Given the description of an element on the screen output the (x, y) to click on. 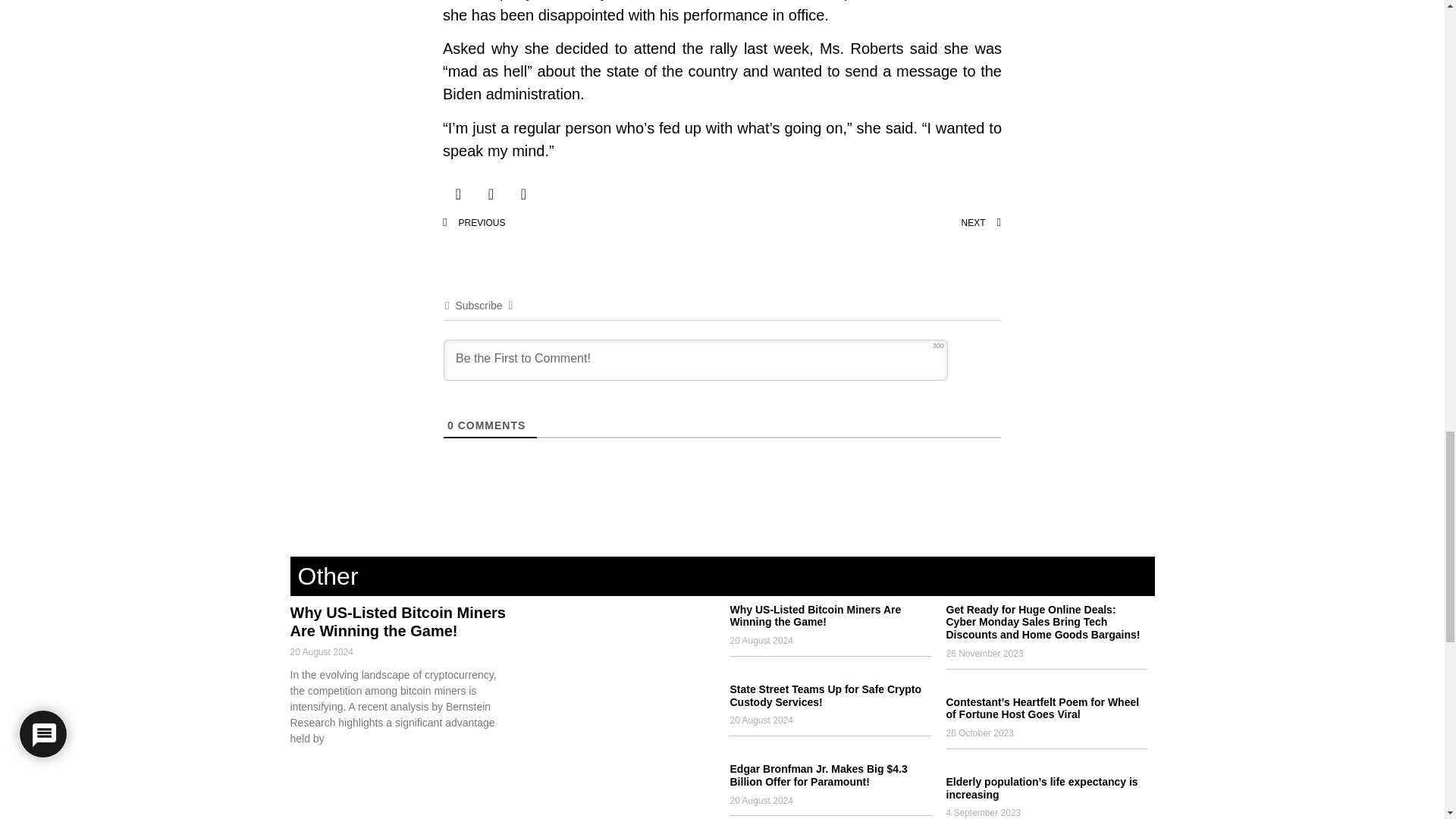
Why US-Listed Bitcoin Miners Are Winning the Game! (397, 621)
PREVIOUS (582, 222)
Why US-Listed Bitcoin Miners Are Winning the Game! (815, 615)
NEXT (861, 222)
State Street Teams Up for Safe Crypto Custody Services! (825, 695)
